Given the description of an element on the screen output the (x, y) to click on. 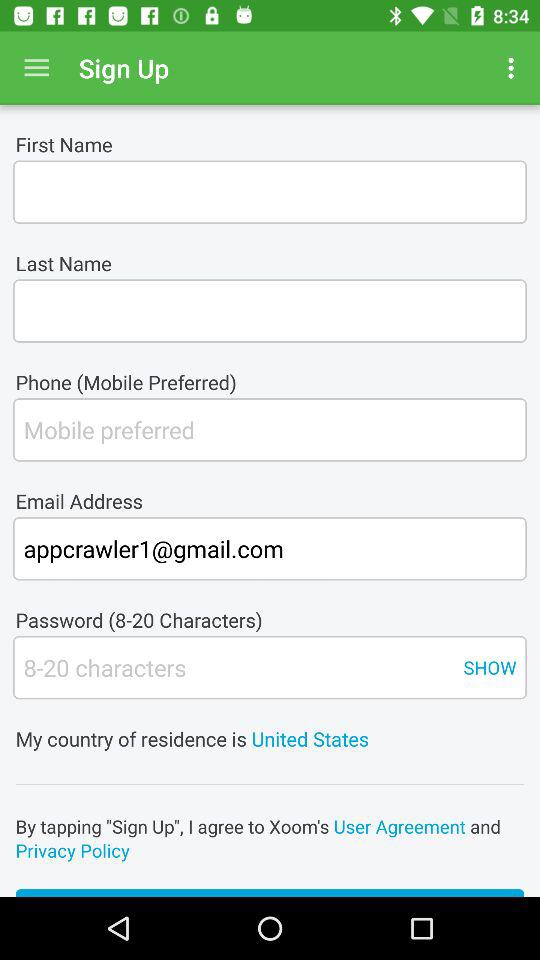
press the my country of (270, 725)
